Given the description of an element on the screen output the (x, y) to click on. 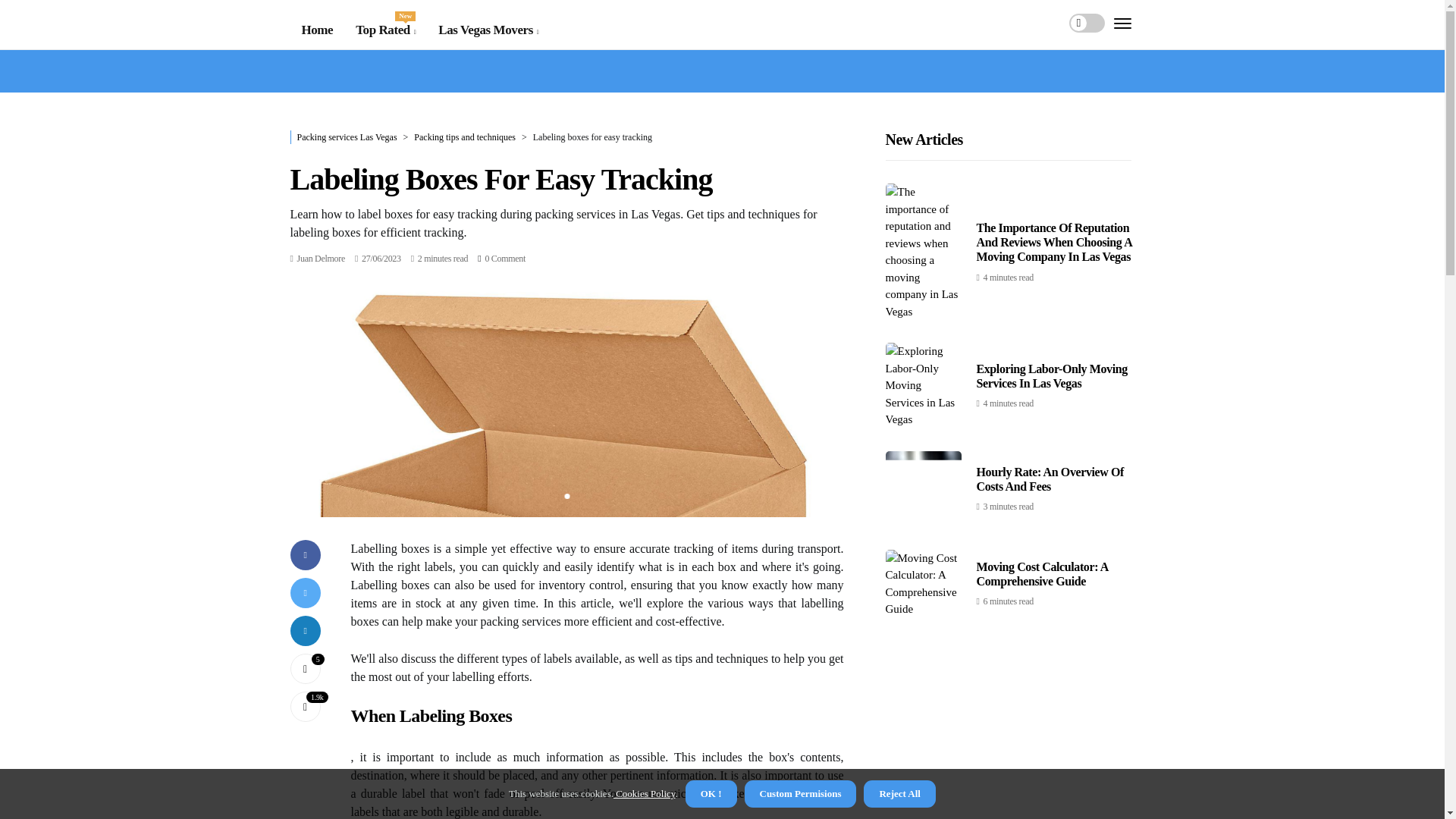
Posts by Juan Delmore (321, 258)
Like (304, 668)
Las Vegas Movers (488, 30)
